Given the description of an element on the screen output the (x, y) to click on. 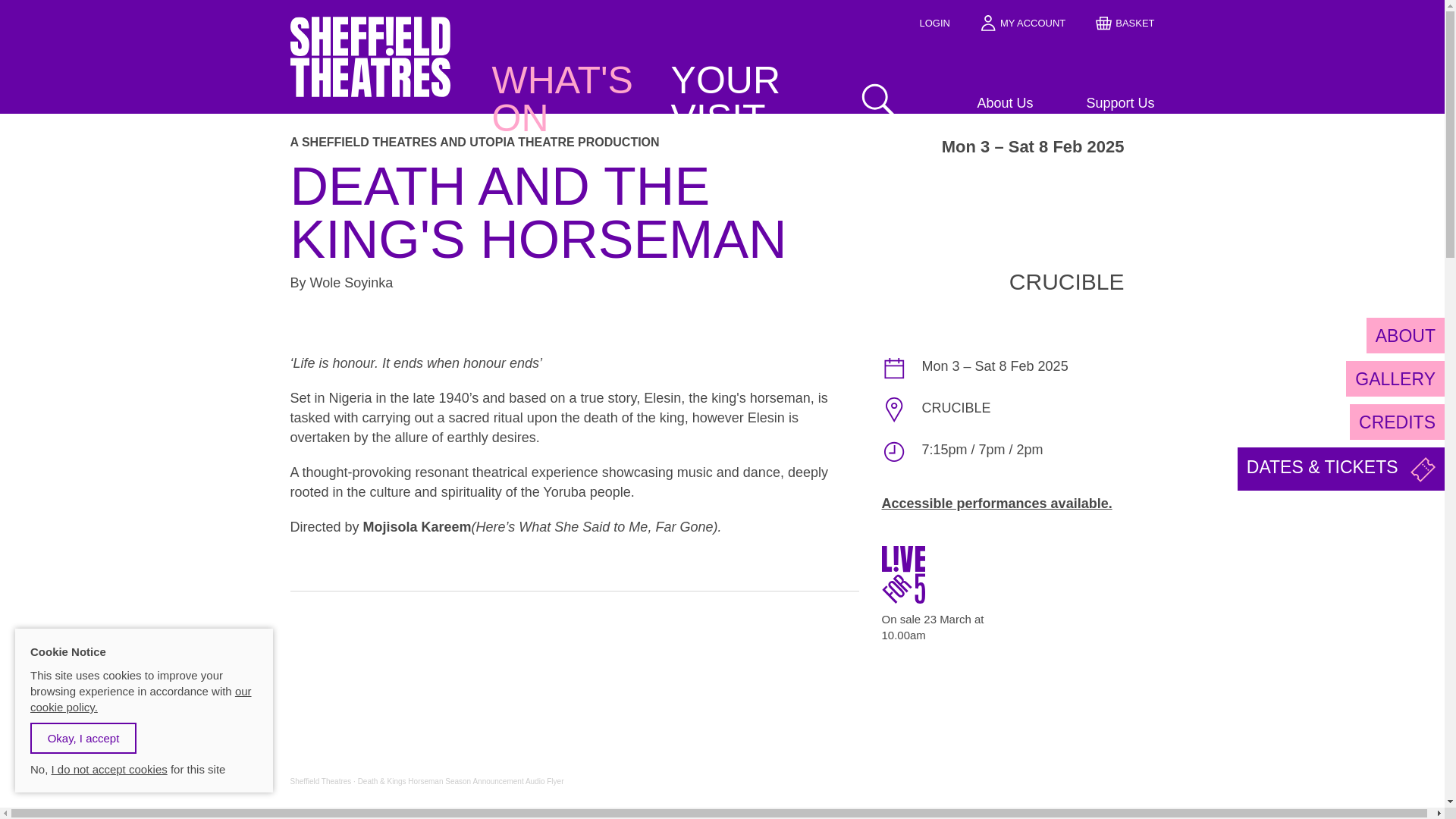
About Us (975, 103)
SHEFFIELD THEATRE (369, 83)
our cookie policy. (140, 698)
MY ACCOUNT (1022, 23)
Support Us (1097, 103)
Okay, I accept (83, 737)
Sheffield Theatres (319, 781)
I do not accept cookies (108, 768)
For Artists (1097, 127)
WHAT'S ON (567, 99)
